Given the description of an element on the screen output the (x, y) to click on. 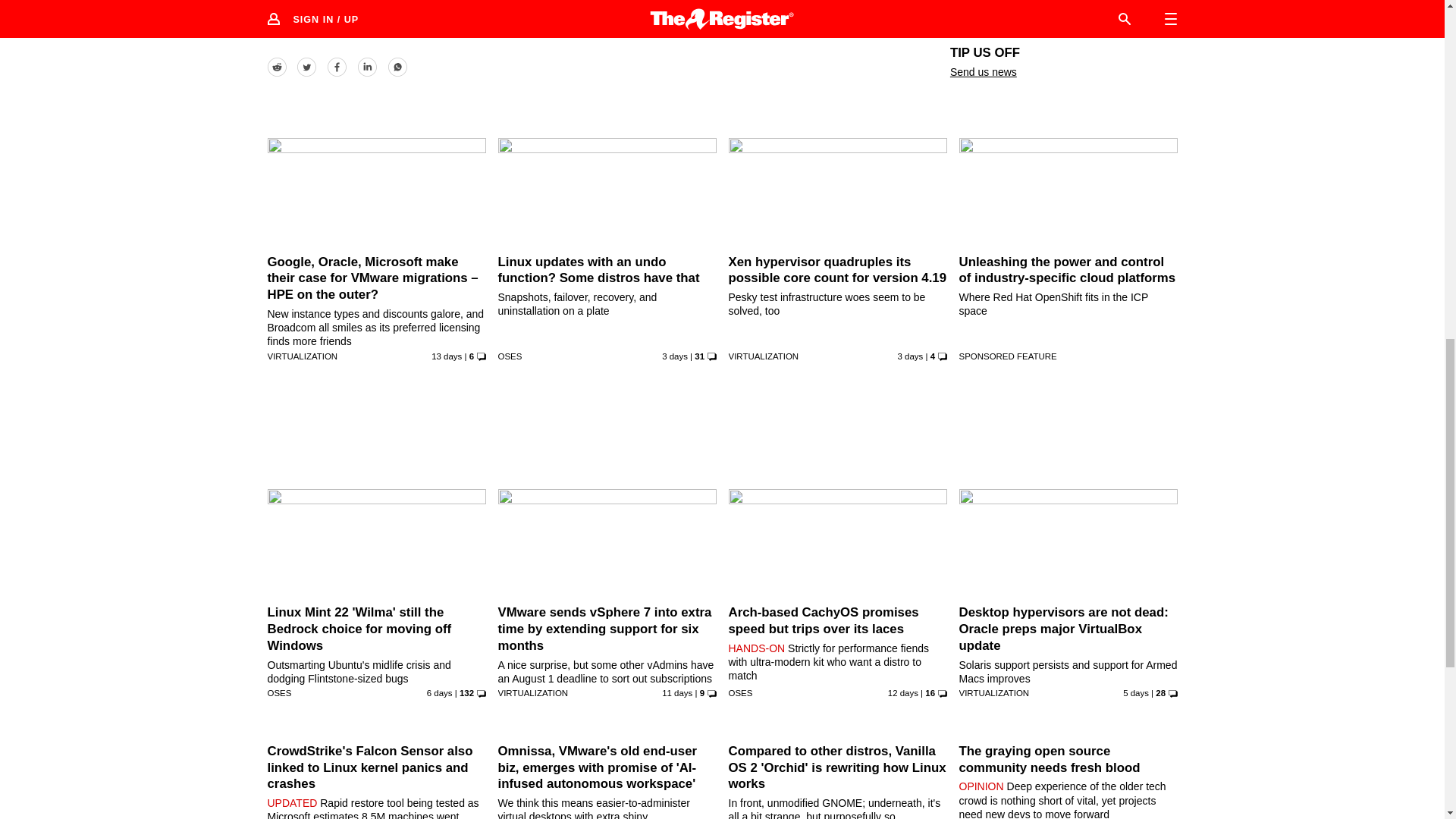
23 Jul 2024 11:27 (903, 692)
24 Jul 2024 3:48 (677, 692)
1 Aug 2024 5:25 (910, 356)
29 Jul 2024 10:33 (439, 692)
30 Jul 2024 5:45 (1135, 692)
1 Aug 2024 8:29 (674, 356)
22 Jul 2024 4:45 (445, 356)
